Given the description of an element on the screen output the (x, y) to click on. 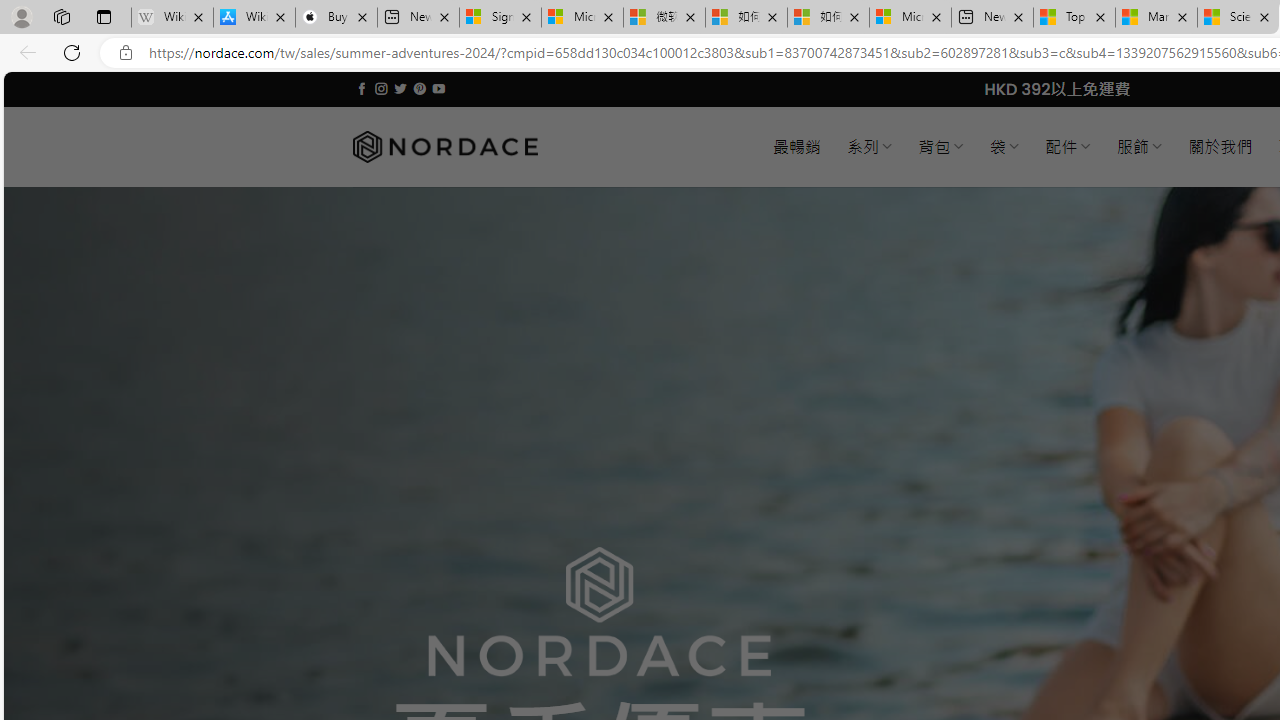
Marine life - MSN (1156, 17)
Follow on YouTube (438, 88)
Follow on Pinterest (419, 88)
